Given the description of an element on the screen output the (x, y) to click on. 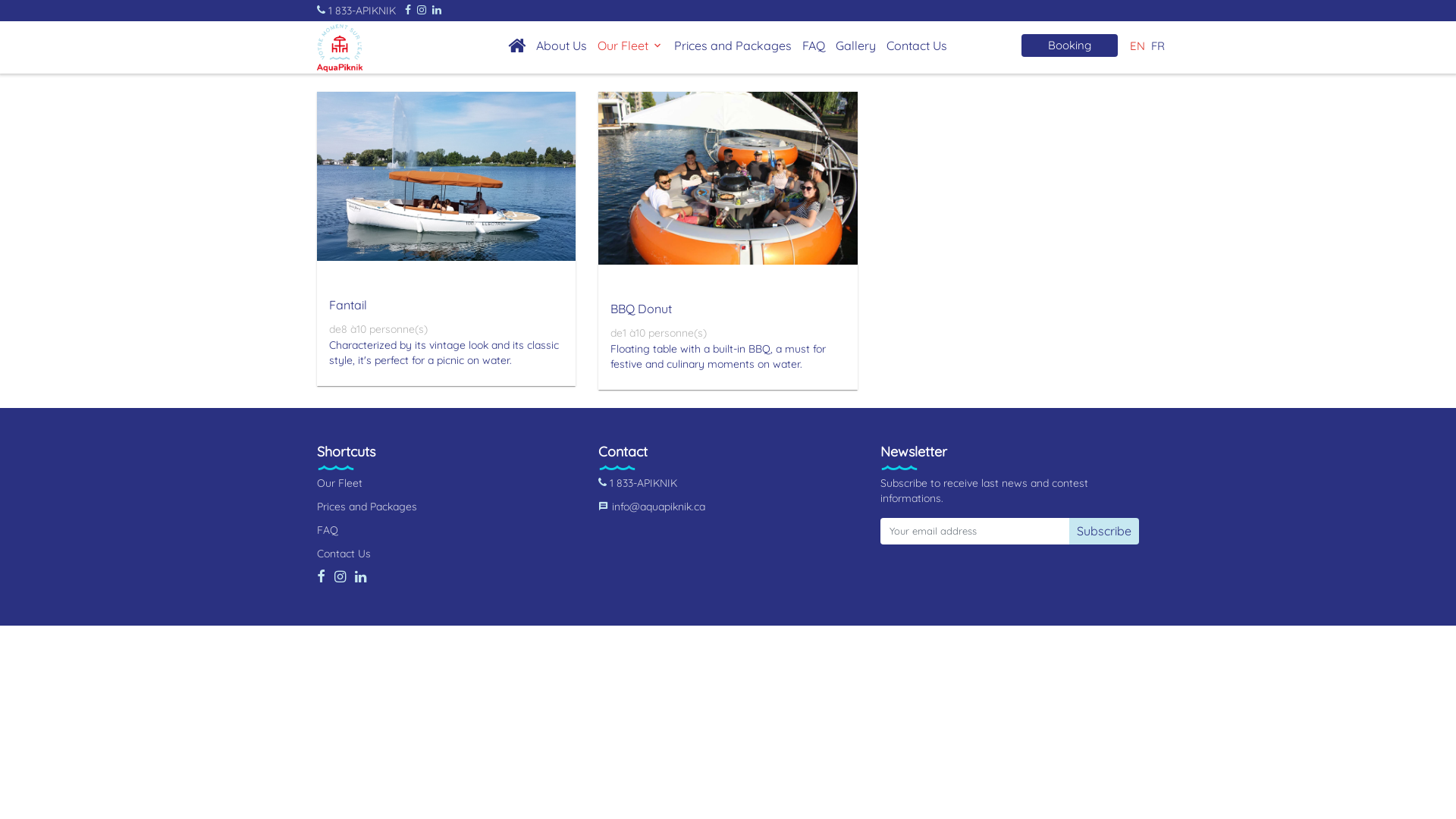
Prices and Packages Element type: text (366, 506)
1 833-APIKNIK Element type: text (637, 482)
FR Element type: text (1156, 44)
EN Element type: text (1138, 44)
About Us Element type: text (561, 45)
Contact Us Element type: text (916, 45)
1 833-APIKNIK Element type: text (357, 10)
Booking Element type: text (1069, 44)
Subscribe Element type: text (1104, 530)
Fantail Element type: text (348, 304)
Our Fleet Element type: text (630, 45)
info@aquapiknik.ca Element type: text (651, 506)
BBQ Donut Element type: text (640, 308)
Our Fleet Element type: text (339, 482)
FAQ Element type: text (327, 529)
FAQ Element type: text (813, 45)
Contact Us Element type: text (343, 553)
Gallery Element type: text (855, 45)
Prices and Packages Element type: text (732, 45)
